Given the description of an element on the screen output the (x, y) to click on. 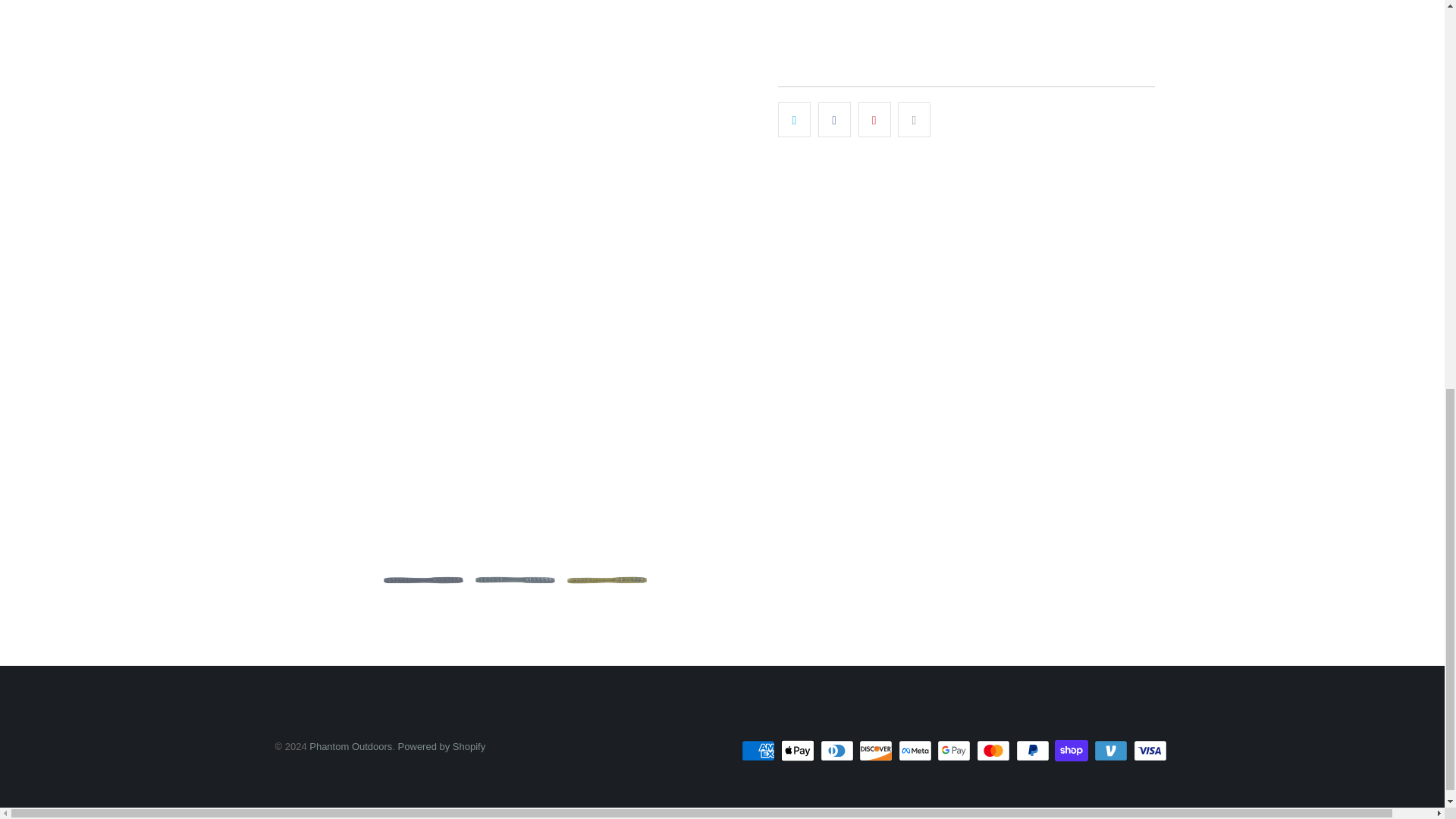
Google Pay (955, 750)
Meta Pay (916, 750)
American Express (759, 750)
PayPal (1034, 750)
Share this on Twitter (793, 119)
Diners Club (839, 750)
Mastercard (994, 750)
Apple Pay (798, 750)
Share this on Pinterest (875, 119)
Discover (877, 750)
Shop Pay (1072, 750)
Share this on Facebook (834, 119)
Venmo (1112, 750)
Visa (1150, 750)
Email this to a friend (914, 119)
